Given the description of an element on the screen output the (x, y) to click on. 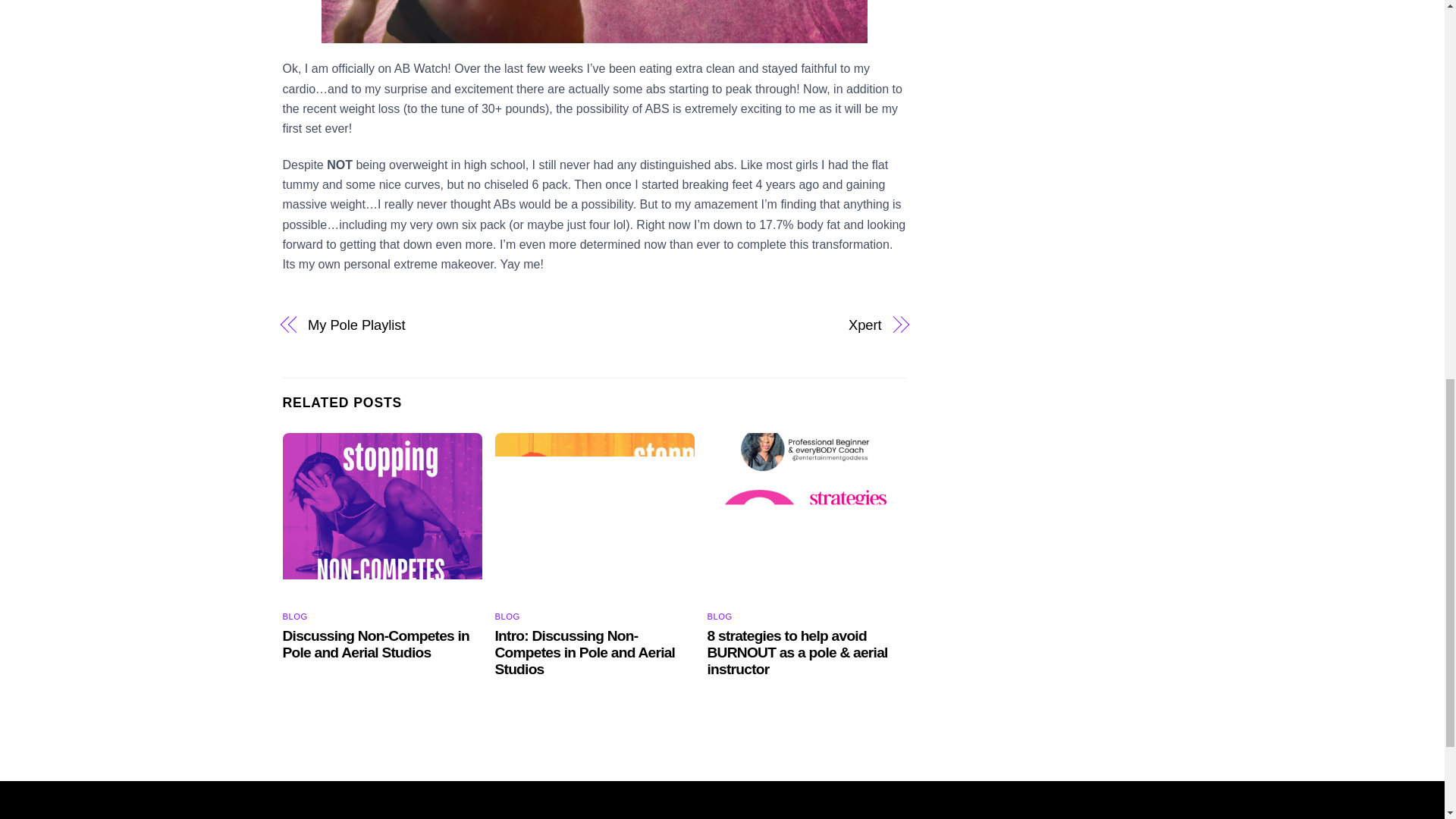
BLOG (719, 615)
Discussing Non-Competes in Pole and Aerial Studios (375, 644)
non-competes-2 (595, 516)
1 (807, 516)
abwatch2 (594, 21)
non-competes - 9 (381, 516)
My Pole Playlist (441, 324)
Intro: Discussing Non-Competes in Pole and Aerial Studios (585, 652)
BLOG (294, 615)
Xpert (746, 324)
